Given the description of an element on the screen output the (x, y) to click on. 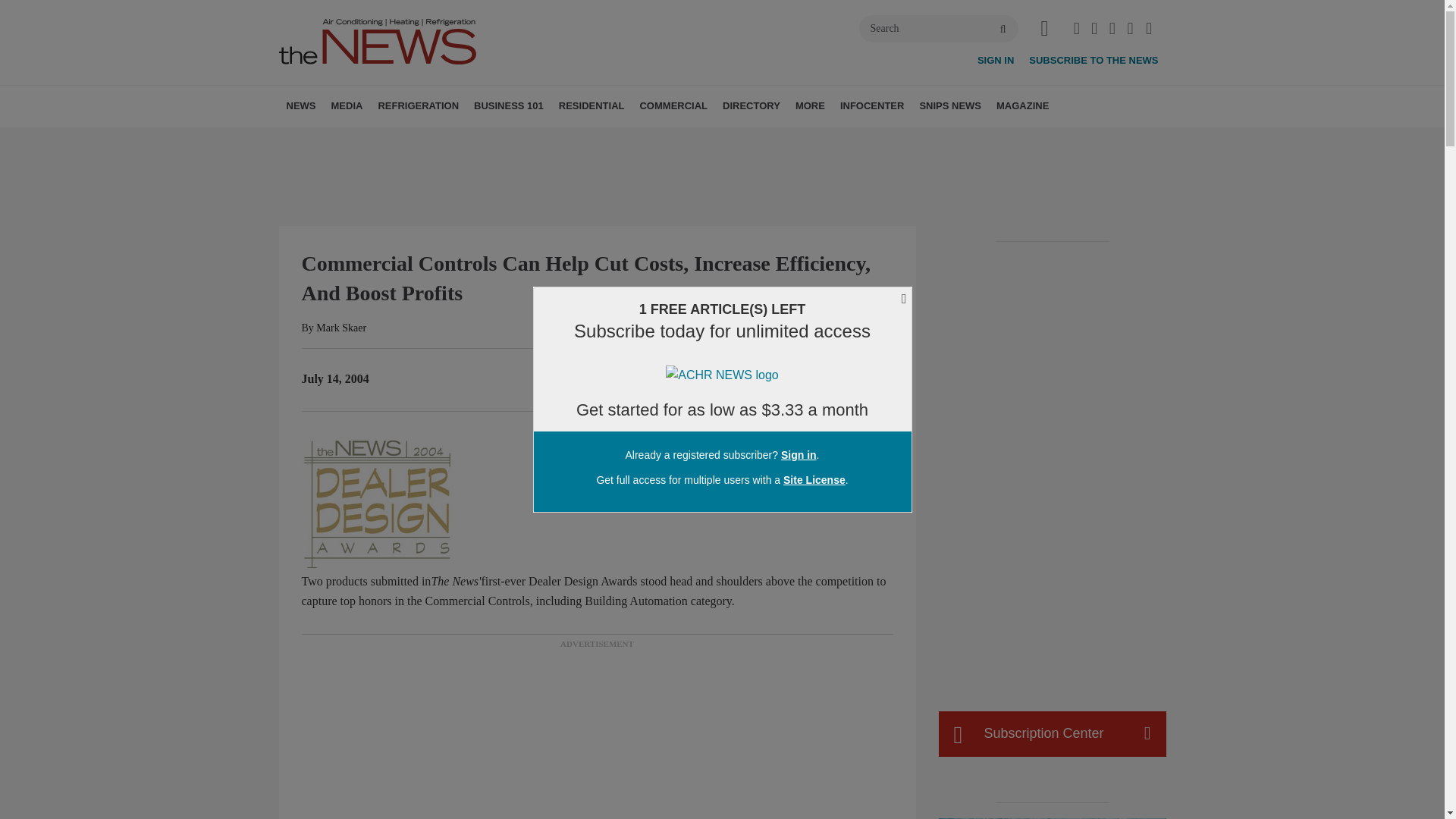
Search (938, 28)
Search (938, 28)
